Given the description of an element on the screen output the (x, y) to click on. 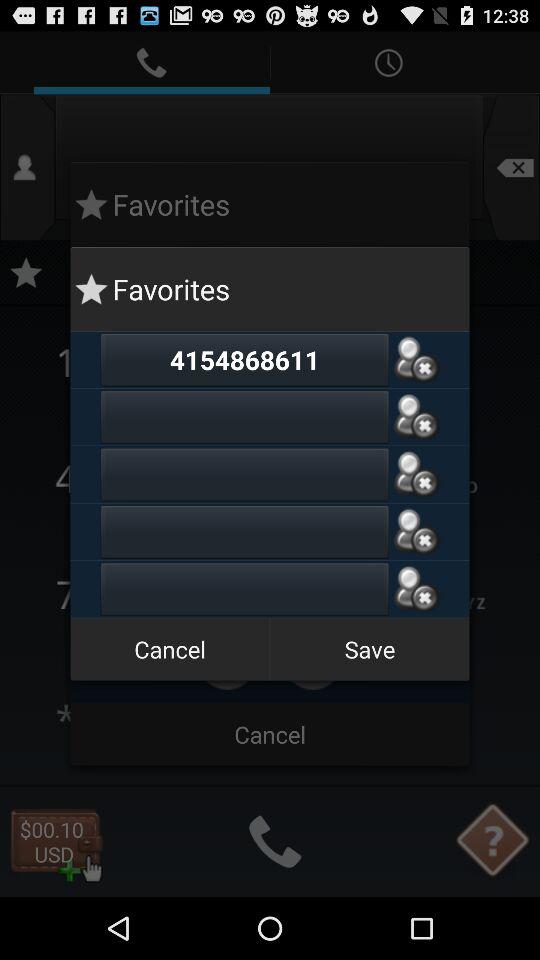
enter a friend 's mobile number (244, 531)
